Given the description of an element on the screen output the (x, y) to click on. 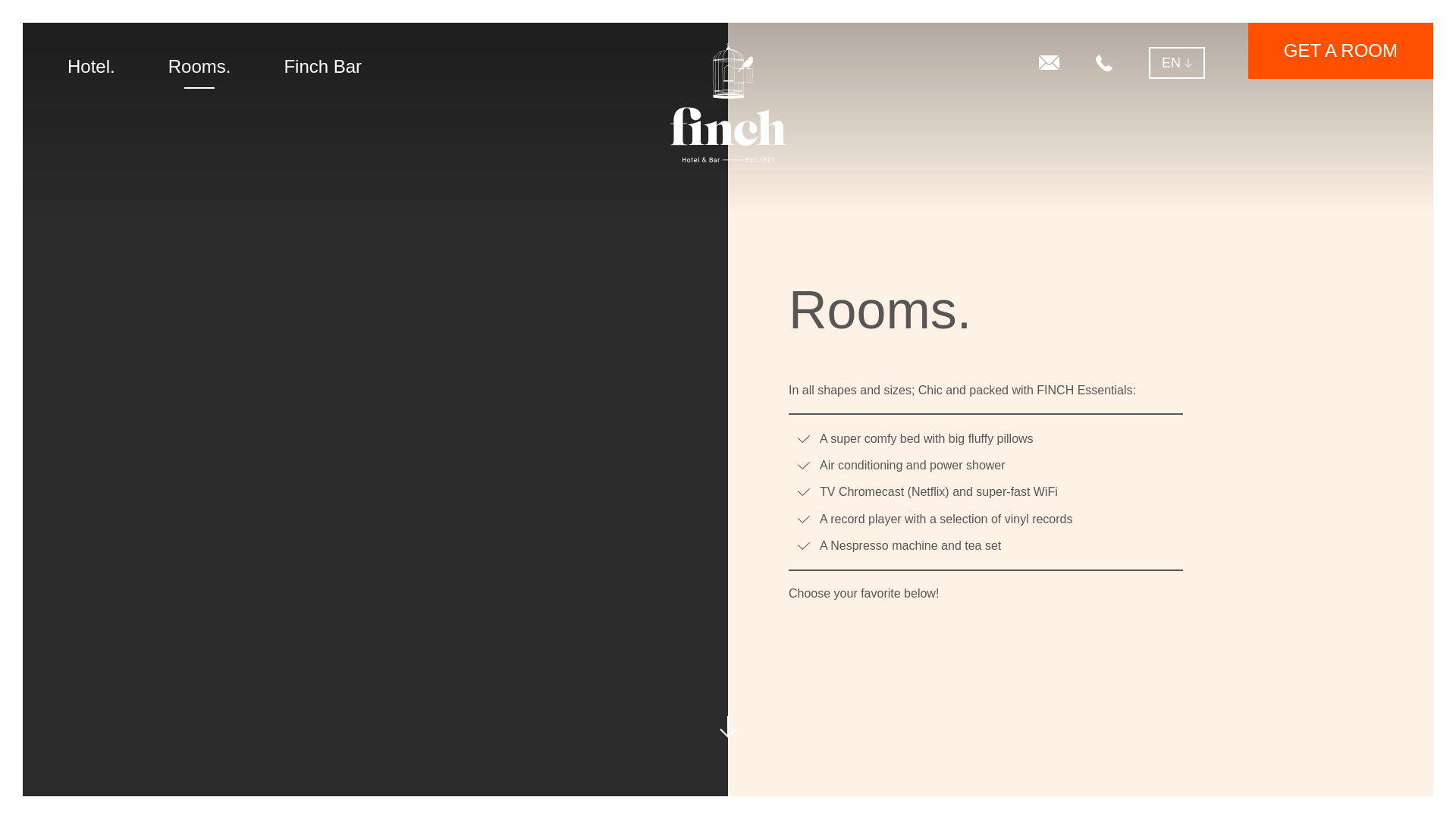
GET A ROOM (1339, 50)
Finch Bar (322, 66)
Rooms. (199, 66)
EN (1176, 62)
Hotel. (90, 66)
